Given the description of an element on the screen output the (x, y) to click on. 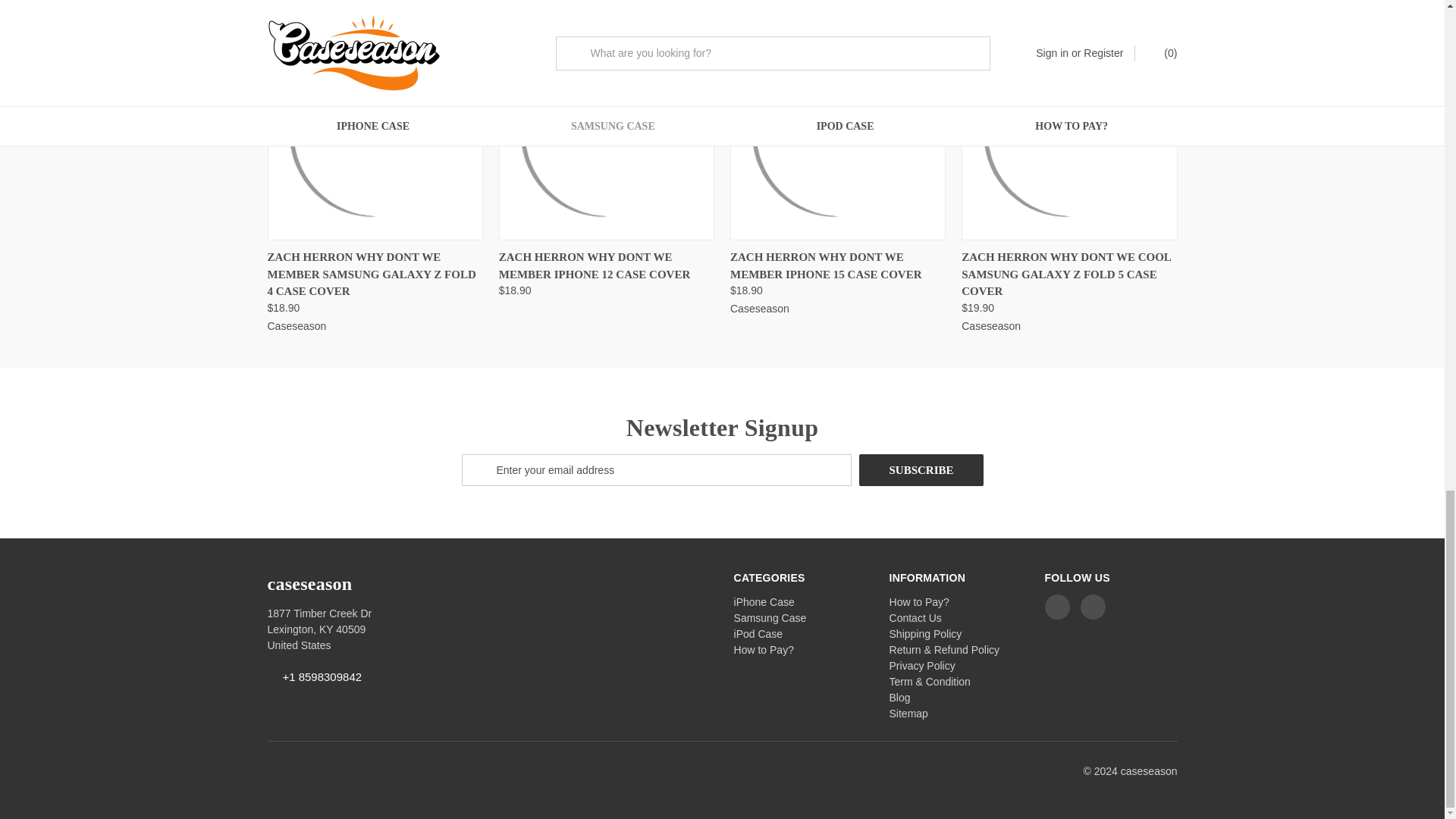
Subscribe (920, 470)
ZACH HERRON WHY DONT WE MEMBER iPhone 15 Case Cover (837, 132)
ZACH HERRON WHY DONT WE MEMBER iPhone 12 Case Cover (606, 132)
